Given the description of an element on the screen output the (x, y) to click on. 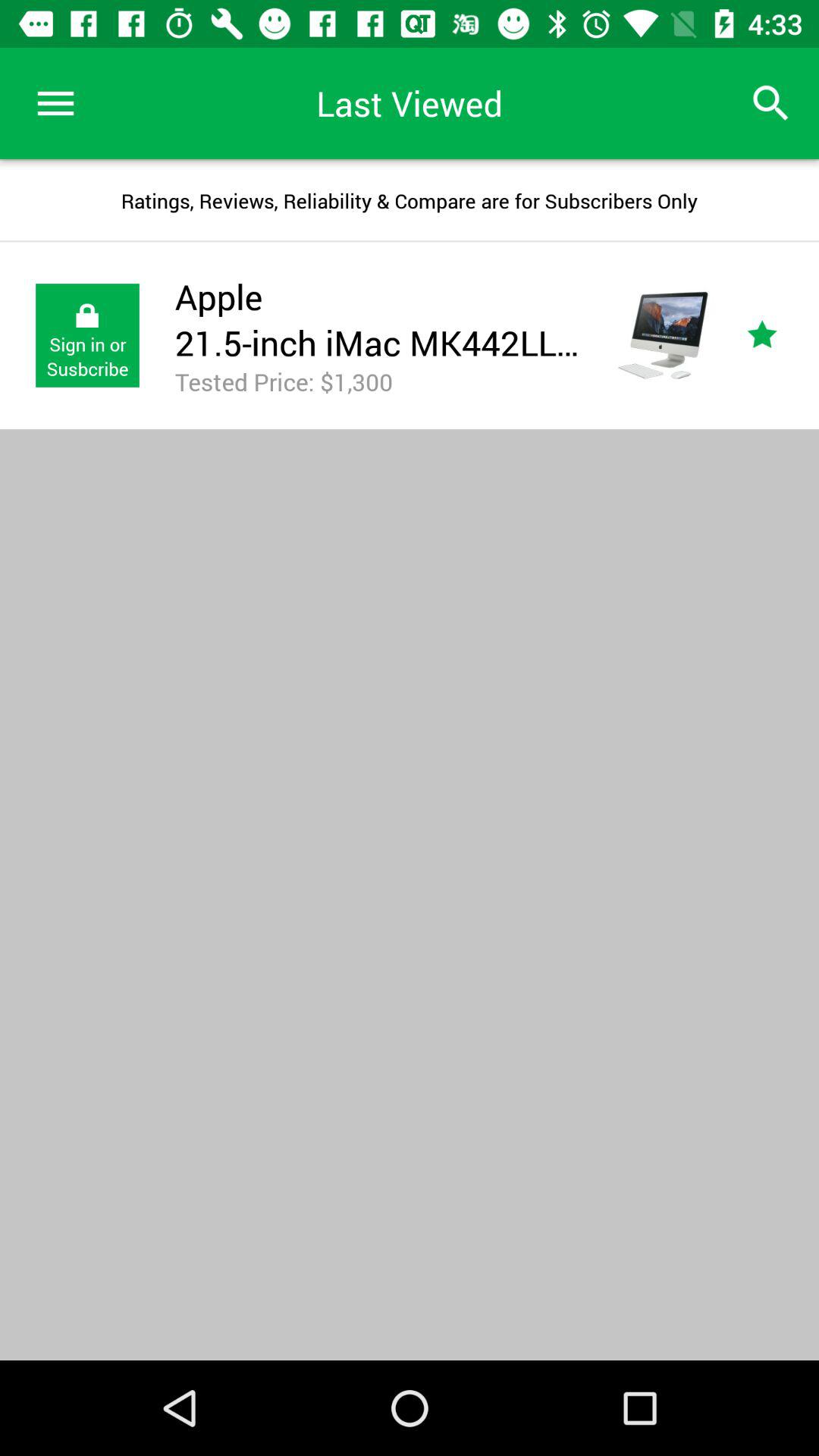
click item to the left of last viewed (55, 103)
